Given the description of an element on the screen output the (x, y) to click on. 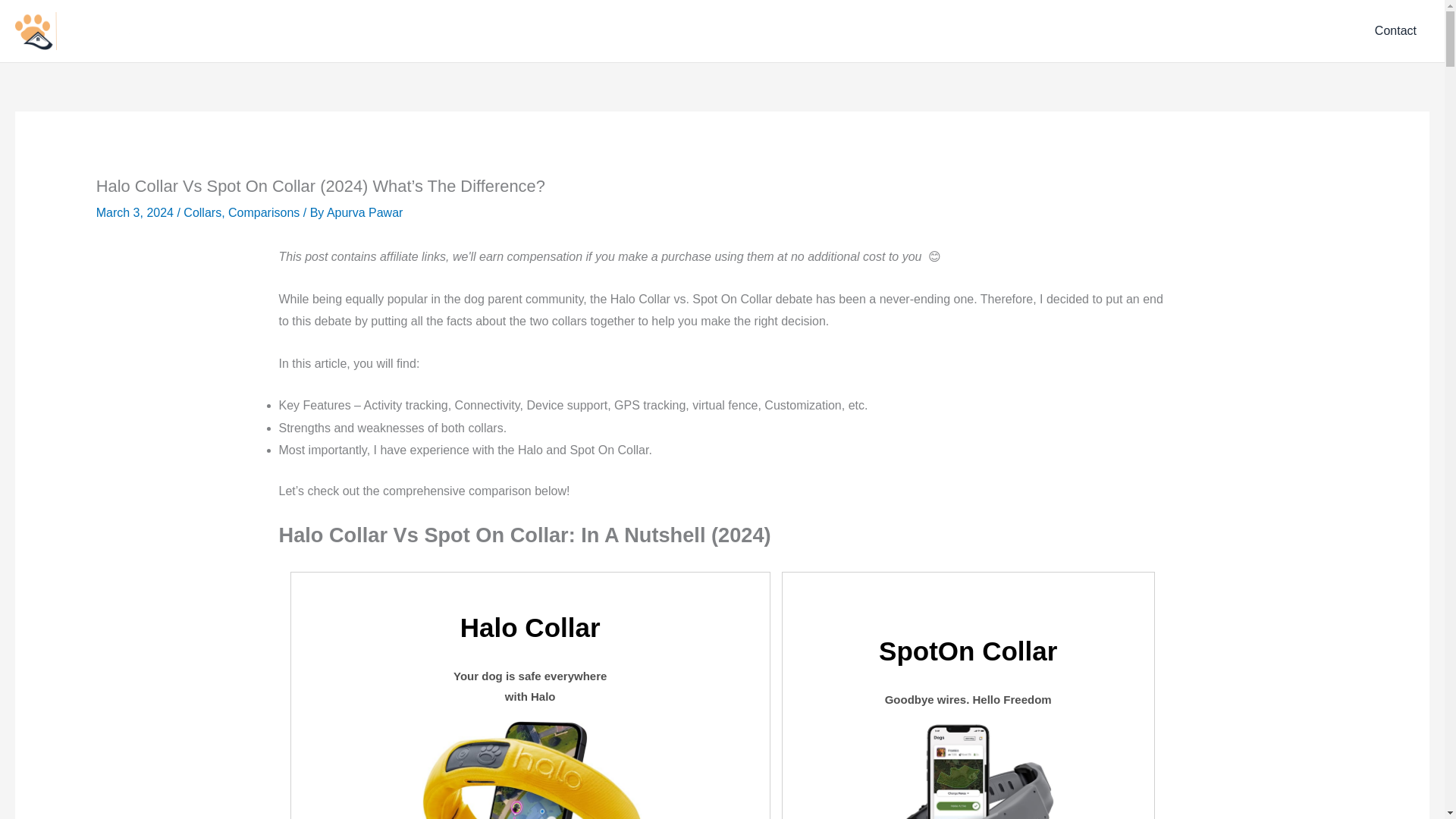
Comparisons (263, 212)
Apurva Pawar (364, 212)
Contact (1395, 30)
Collars (202, 212)
View all posts by Apurva Pawar (364, 212)
Dog Statistics (1222, 30)
About Us (1309, 30)
Home (1096, 30)
